Given the description of an element on the screen output the (x, y) to click on. 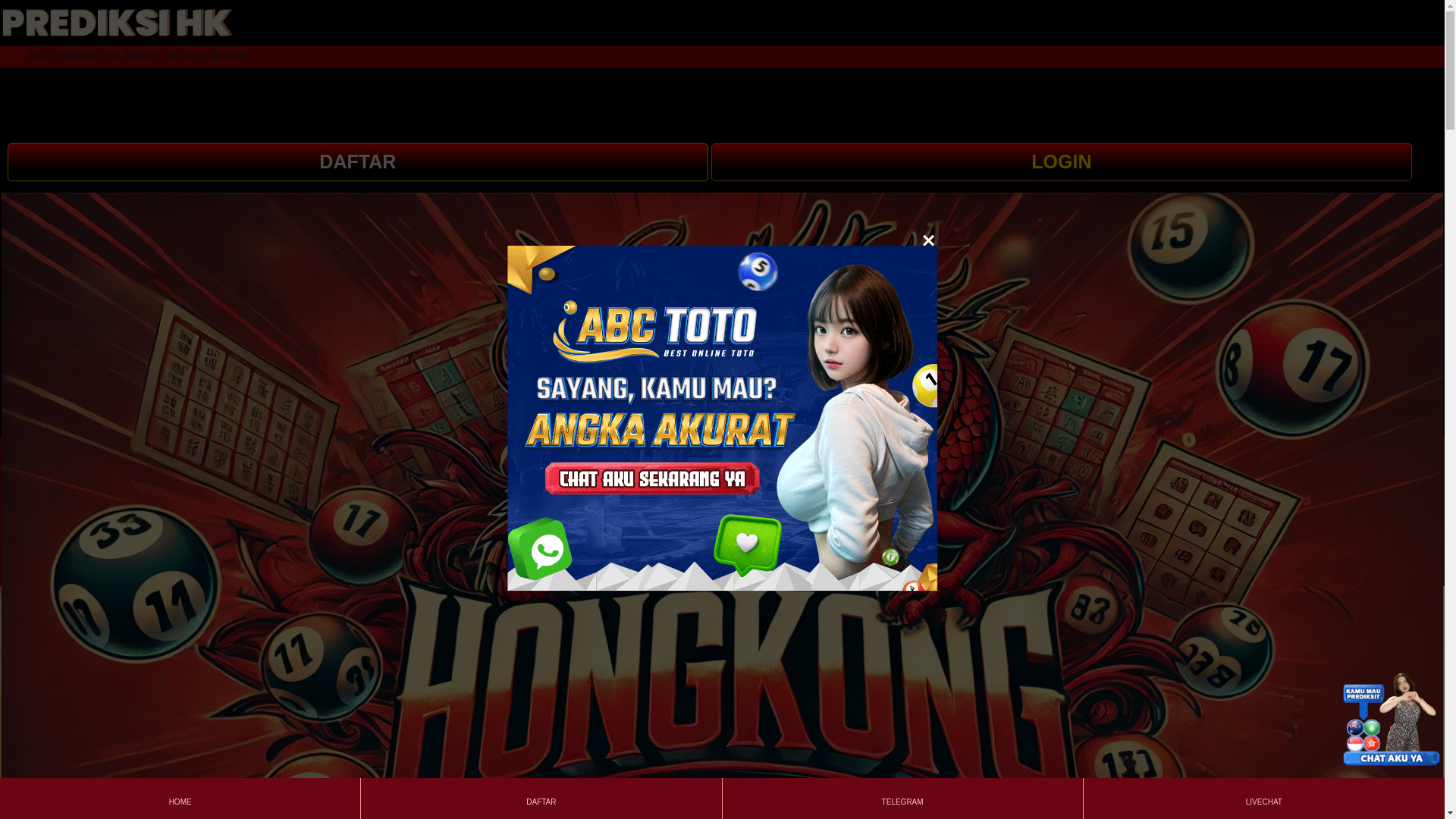
DAFTAR (540, 798)
LOGIN (1061, 164)
LOGIN (1061, 161)
TELEGRAM (901, 798)
prediksi HK (117, 22)
HOME (179, 798)
LIVECHAT (1263, 798)
DAFTAR (359, 164)
DAFTAR (357, 161)
